Given the description of an element on the screen output the (x, y) to click on. 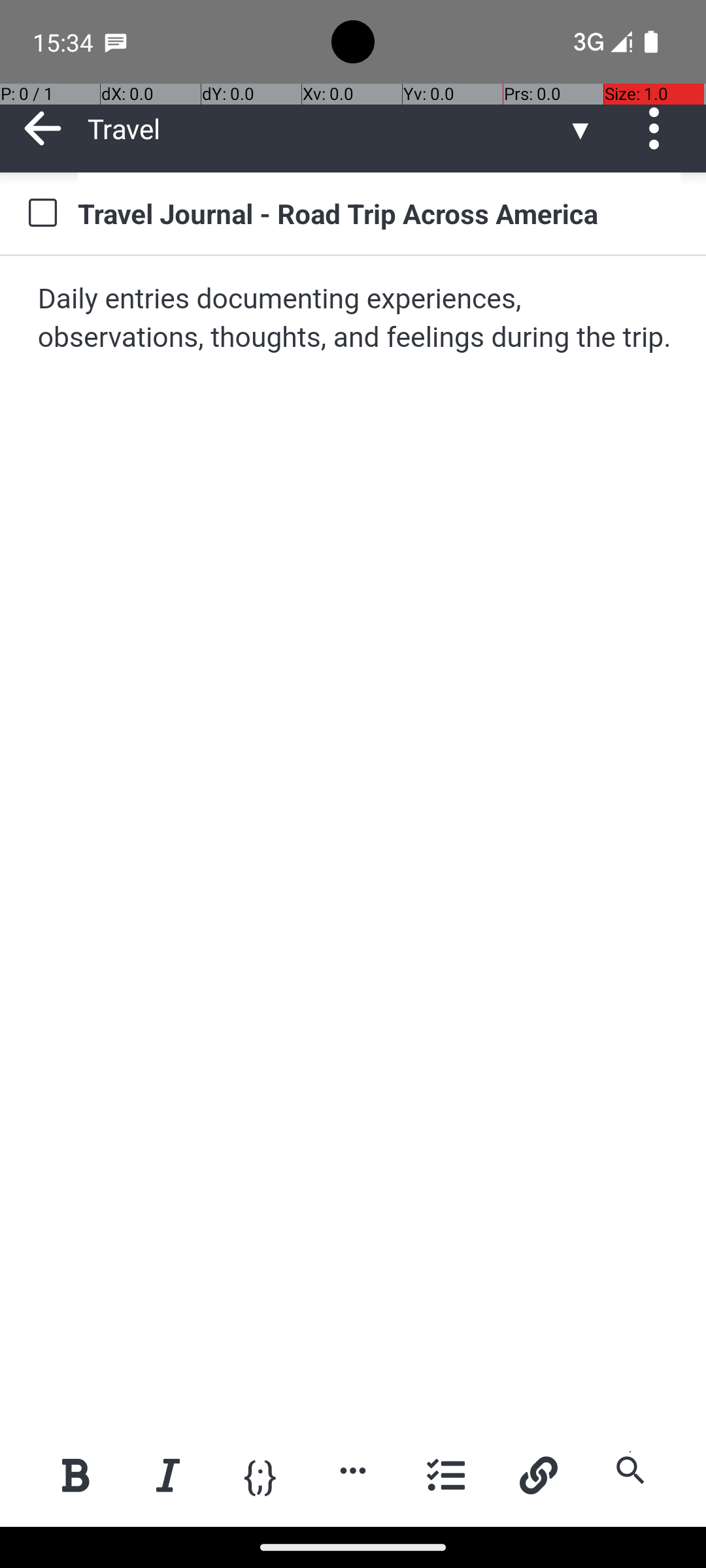
Travel Journal - Road Trip Across America Element type: android.widget.EditText (378, 213)
Travel Element type: android.widget.TextView (326, 128)
Daily entries documenting experiences, observations, thoughts, and feelings during the trip. Element type: android.widget.EditText (354, 318)
